Given the description of an element on the screen output the (x, y) to click on. 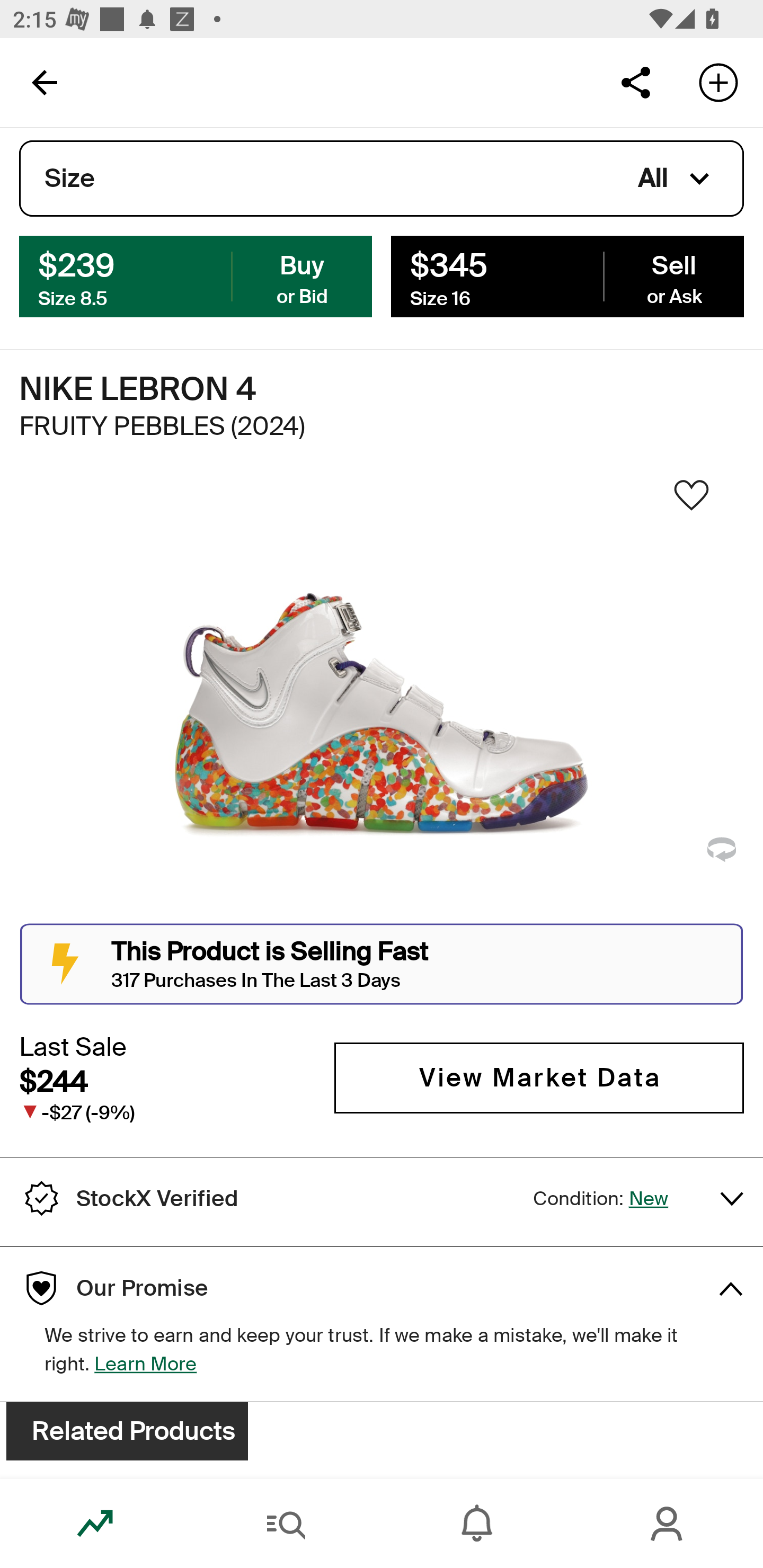
Share (635, 81)
Add (718, 81)
Size All (381, 178)
$239 Buy Size 8.5 or Bid (195, 275)
$345 Sell Size 16 or Ask (566, 275)
Sneaker Image (381, 699)
View Market Data (538, 1077)
Search (285, 1523)
Inbox (476, 1523)
Account (667, 1523)
